Given the description of an element on the screen output the (x, y) to click on. 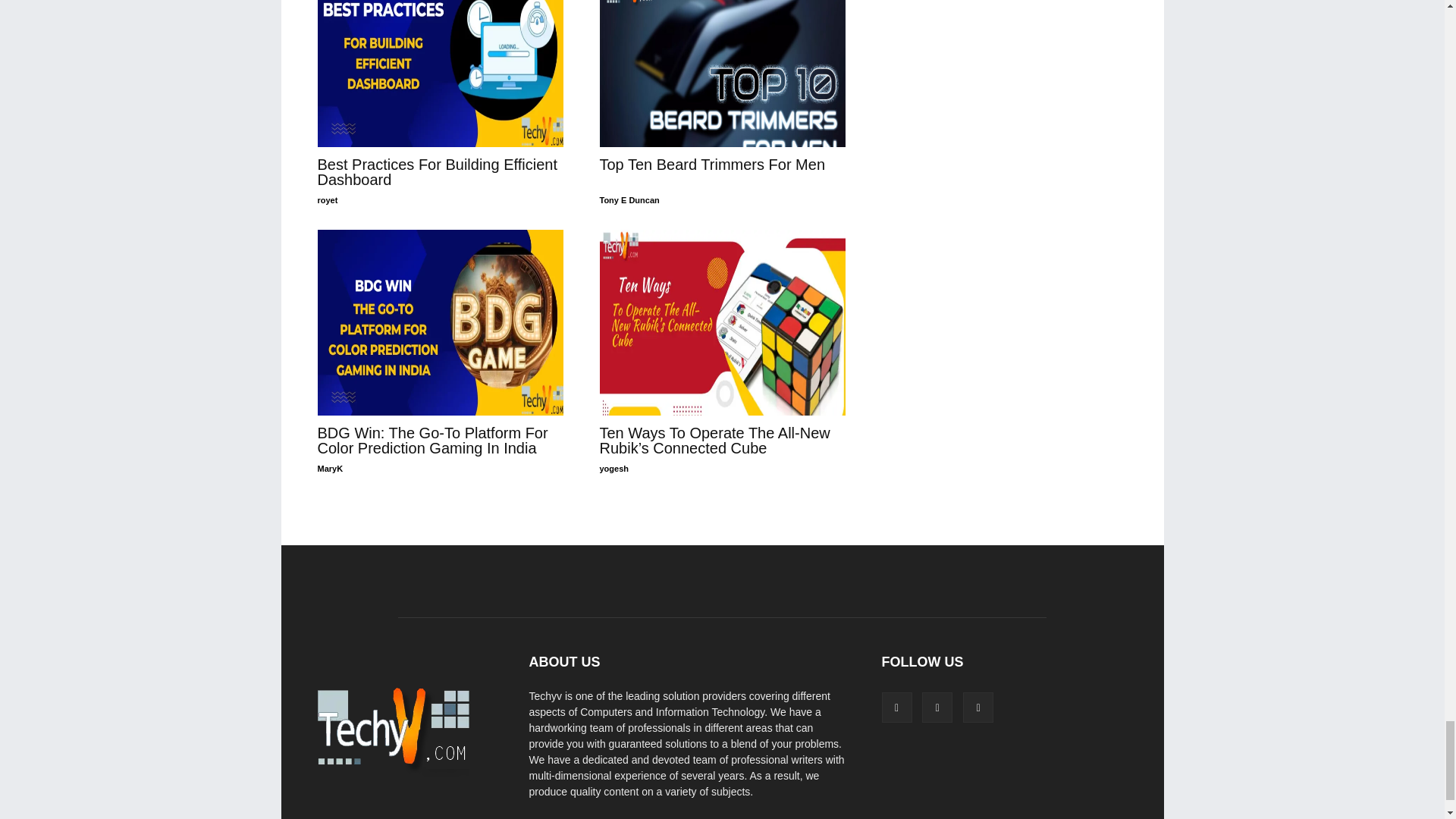
Top Ten Beard Trimmers For Men (711, 164)
Top Ten Beard Trimmers For Men (721, 73)
Best Practices For Building Efficient Dashboard (436, 172)
Best Practices For Building Efficient Dashboard (439, 73)
